Given the description of an element on the screen output the (x, y) to click on. 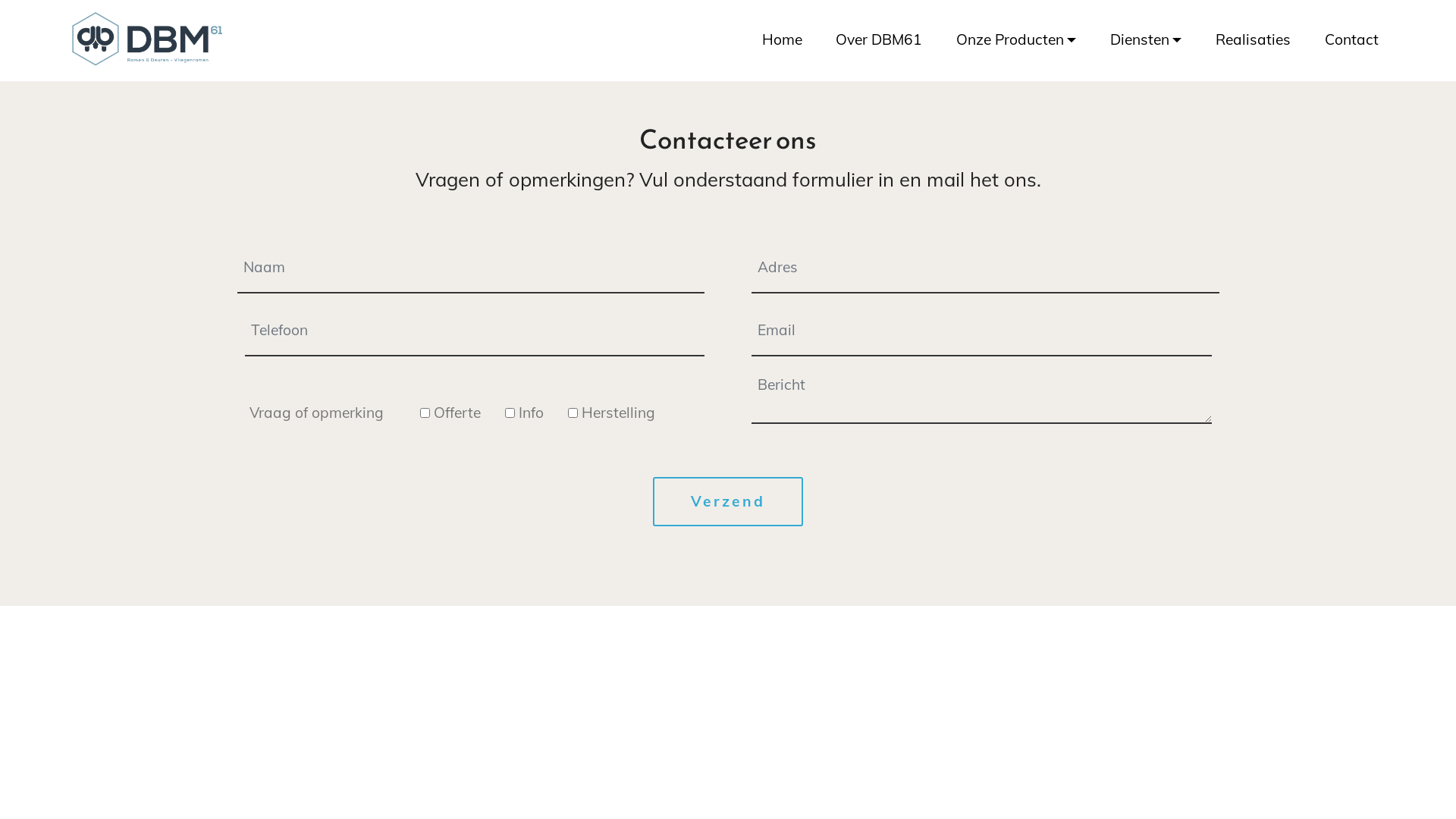
Home Element type: text (782, 40)
Onze Producten Element type: text (1016, 40)
Verzend Element type: text (727, 501)
Over DBM61 Element type: text (878, 40)
Realisaties Element type: text (1252, 40)
Contact Element type: text (1351, 40)
Diensten Element type: text (1145, 40)
